Given the description of an element on the screen output the (x, y) to click on. 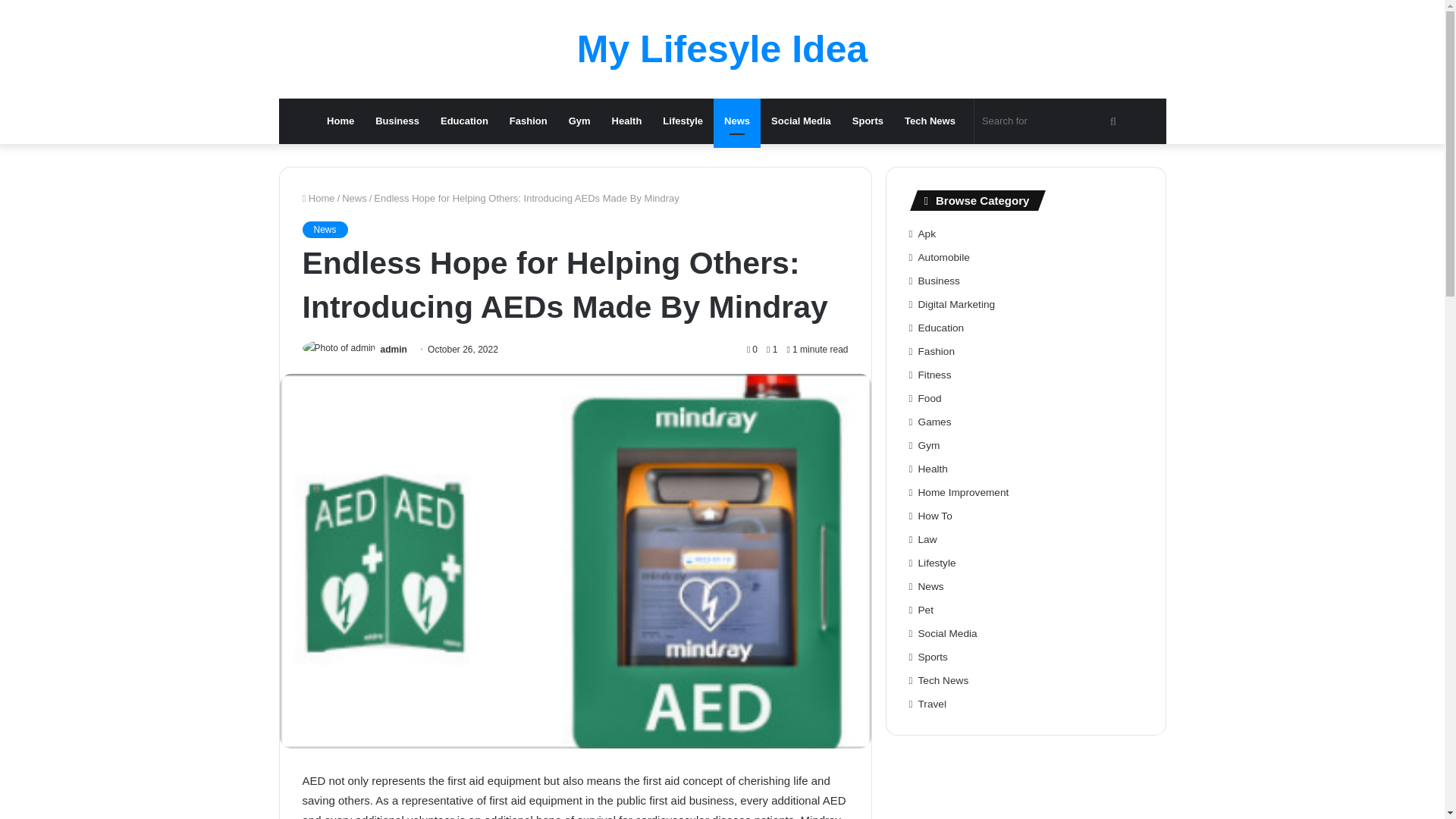
admin (393, 348)
Health (626, 121)
Home (317, 197)
Gym (579, 121)
Tech News (929, 121)
My Lifesyle Idea (721, 48)
Education (464, 121)
admin (393, 348)
Lifestyle (682, 121)
Sports (867, 121)
Social Media (800, 121)
Fashion (528, 121)
News (736, 121)
Search for (1051, 121)
News (354, 197)
